Given the description of an element on the screen output the (x, y) to click on. 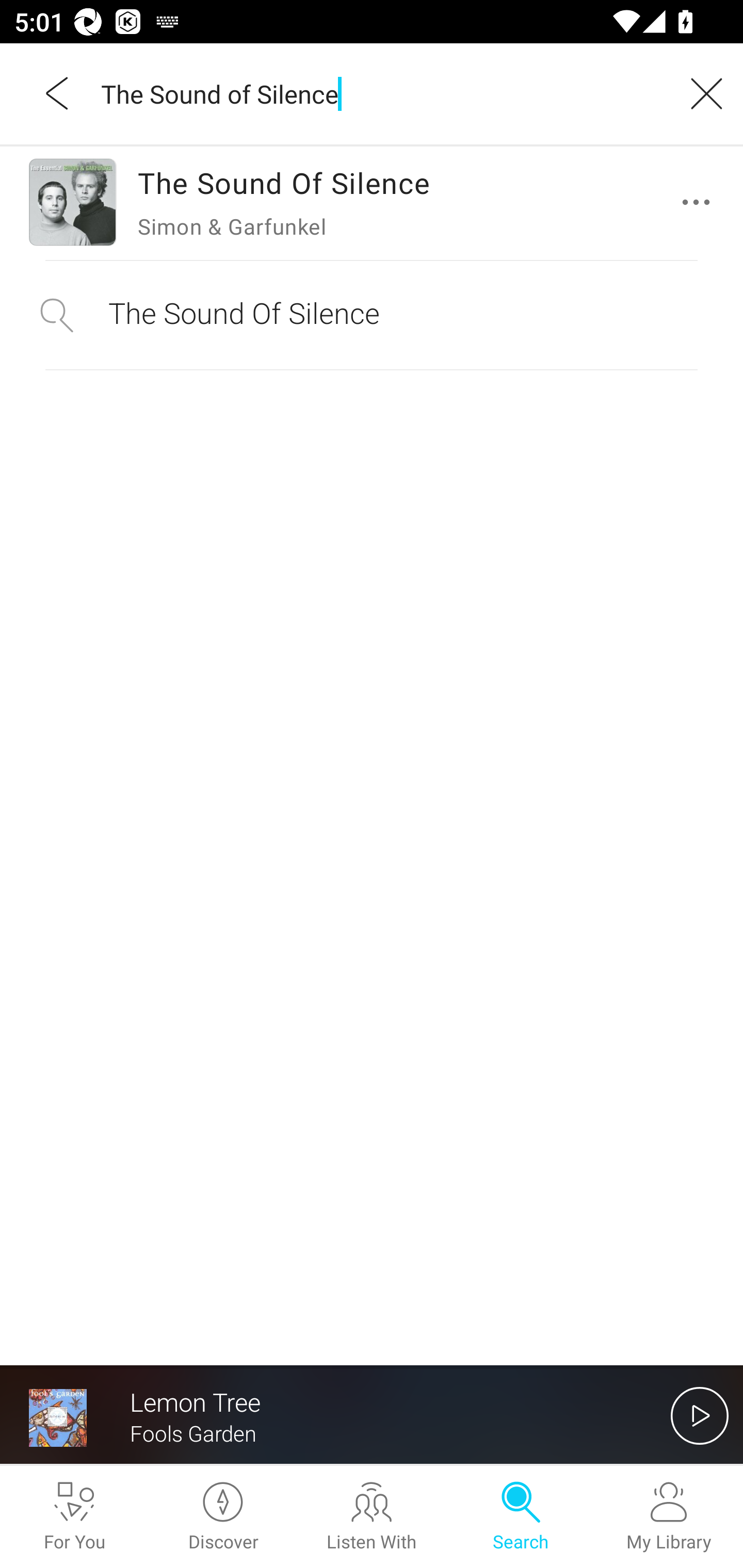
The Sound of Silence (378, 92)
Clear query (699, 92)
Back,outside of the list (57, 93)
更多操作選項 (699, 202)
The Sound Of Silence (371, 315)
開始播放 (699, 1415)
For You (74, 1517)
Discover (222, 1517)
Listen With (371, 1517)
Search (519, 1517)
My Library (668, 1517)
